Given the description of an element on the screen output the (x, y) to click on. 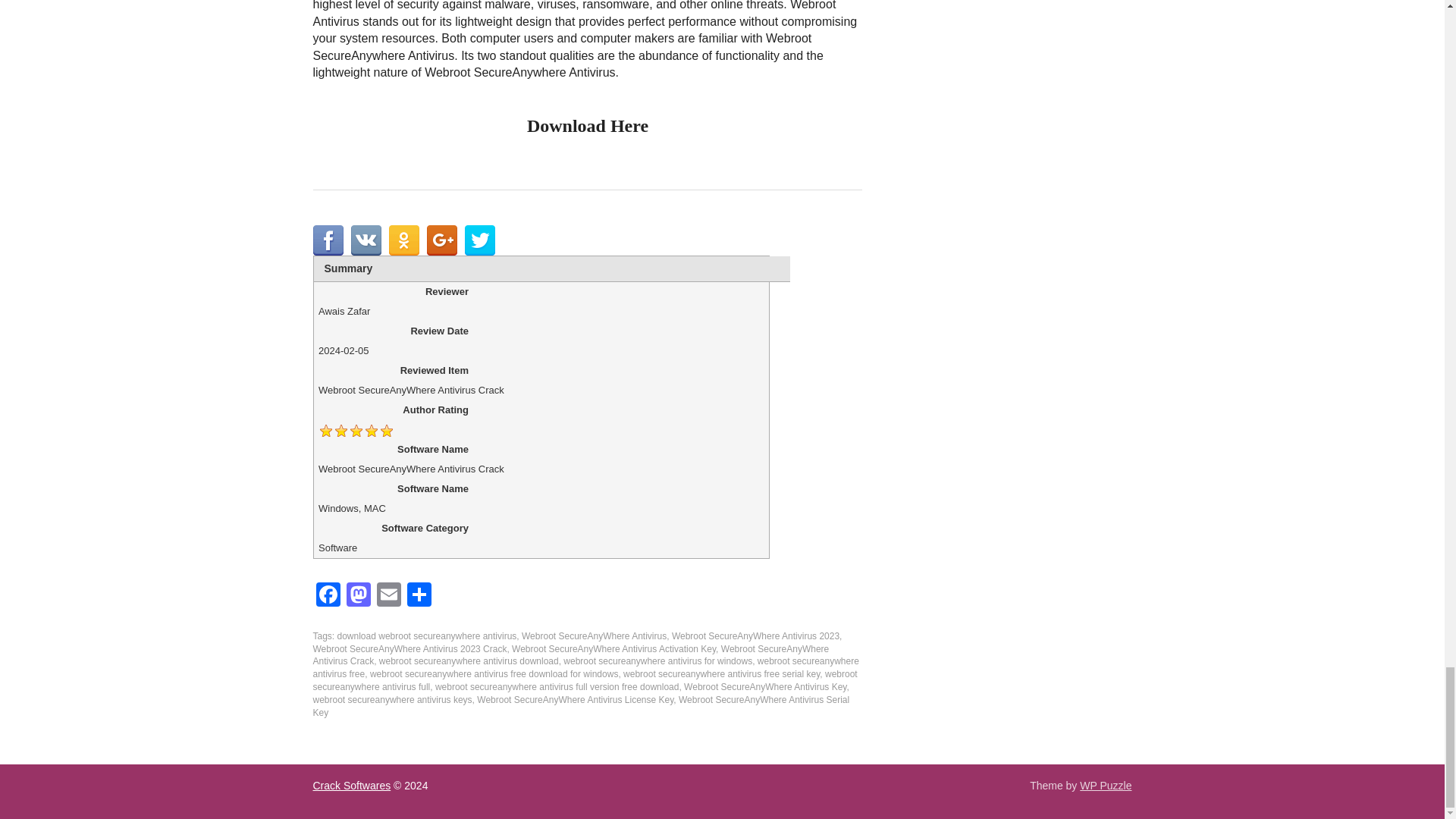
Share in Twitter (479, 240)
Share in OK (403, 240)
Share in Facebook (327, 240)
Facebook (327, 596)
Webroot SecureAnyWhere Antivirus 2023 Crack (409, 648)
Facebook (327, 596)
Webroot SecureAnyWhere Antivirus 2023 (755, 635)
Webroot SecureAnyWhere Antivirus (593, 635)
Mastodon (357, 596)
Webroot SecureAnyWhere Antivirus Crack (570, 655)
download webroot secureanywhere antivirus (426, 635)
Email (387, 596)
Download Here (587, 125)
Share in VK (365, 240)
Mastodon (357, 596)
